Given the description of an element on the screen output the (x, y) to click on. 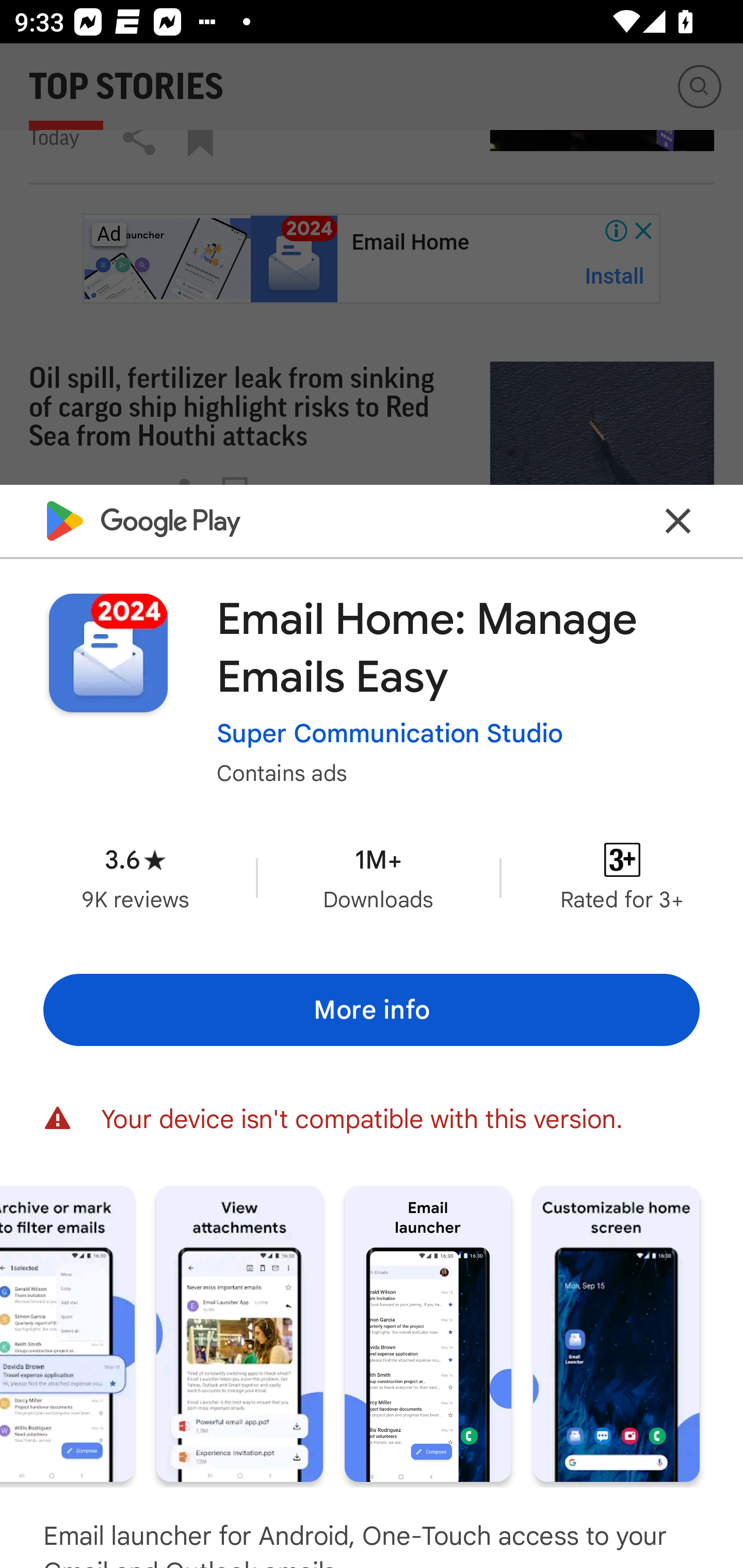
Close (677, 520)
Super Communication Studio (389, 732)
More info (371, 1009)
Screenshot "3" of "6" (67, 1333)
Screenshot "4" of "6" (239, 1333)
Screenshot "5" of "6" (427, 1333)
Screenshot "6" of "6" (615, 1333)
